Given the description of an element on the screen output the (x, y) to click on. 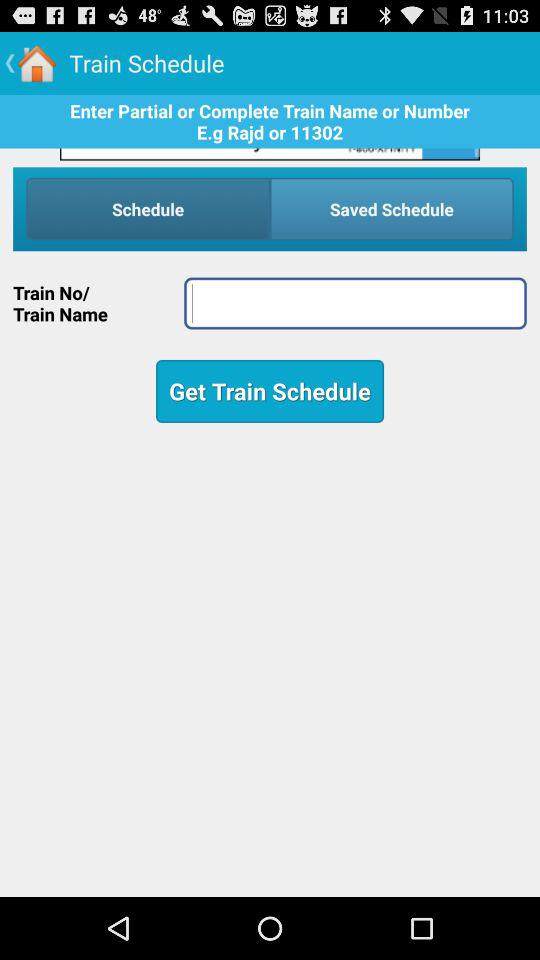
enter train number or name (355, 303)
